Given the description of an element on the screen output the (x, y) to click on. 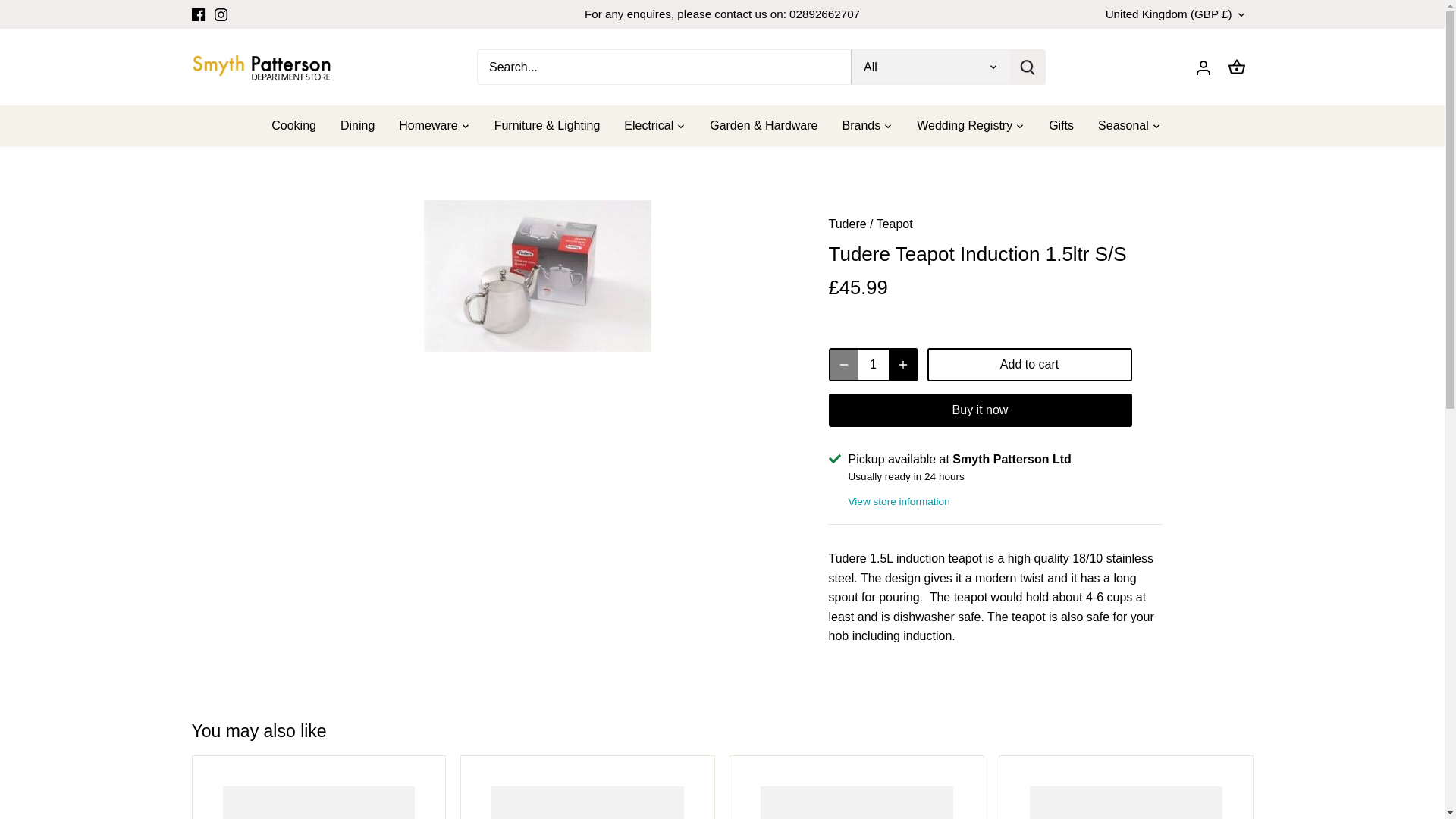
Instagram (220, 14)
1 (873, 364)
Homeware (427, 125)
Cooking (299, 125)
Facebook (196, 14)
Electrical (648, 125)
Brands (860, 125)
For any enquires, please contact us on: 02892662707 (722, 13)
Dining (358, 125)
